Given the description of an element on the screen output the (x, y) to click on. 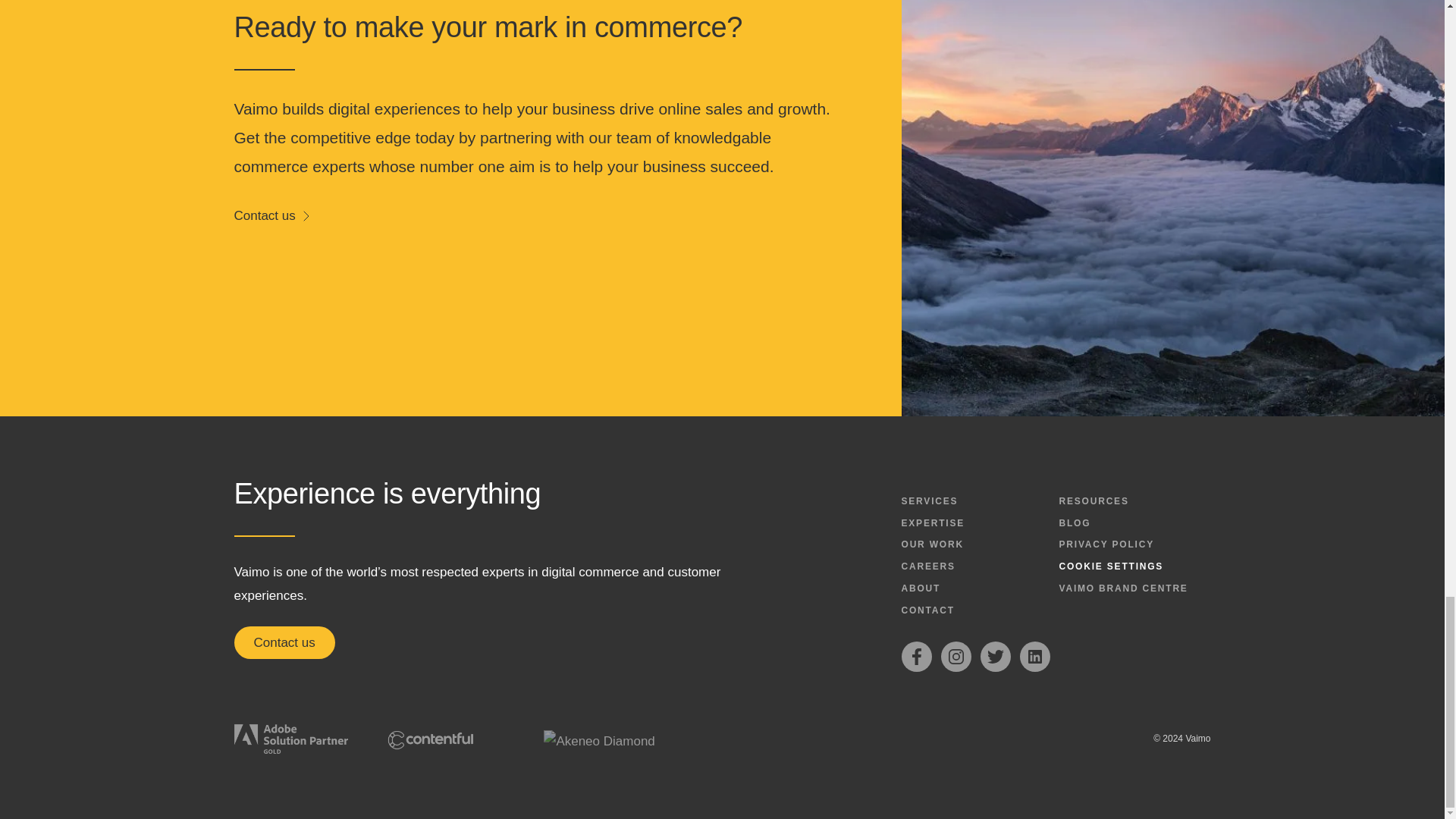
Instagram (955, 656)
Twitter (994, 656)
LinkedIn (1034, 656)
Facebook (916, 656)
